Given the description of an element on the screen output the (x, y) to click on. 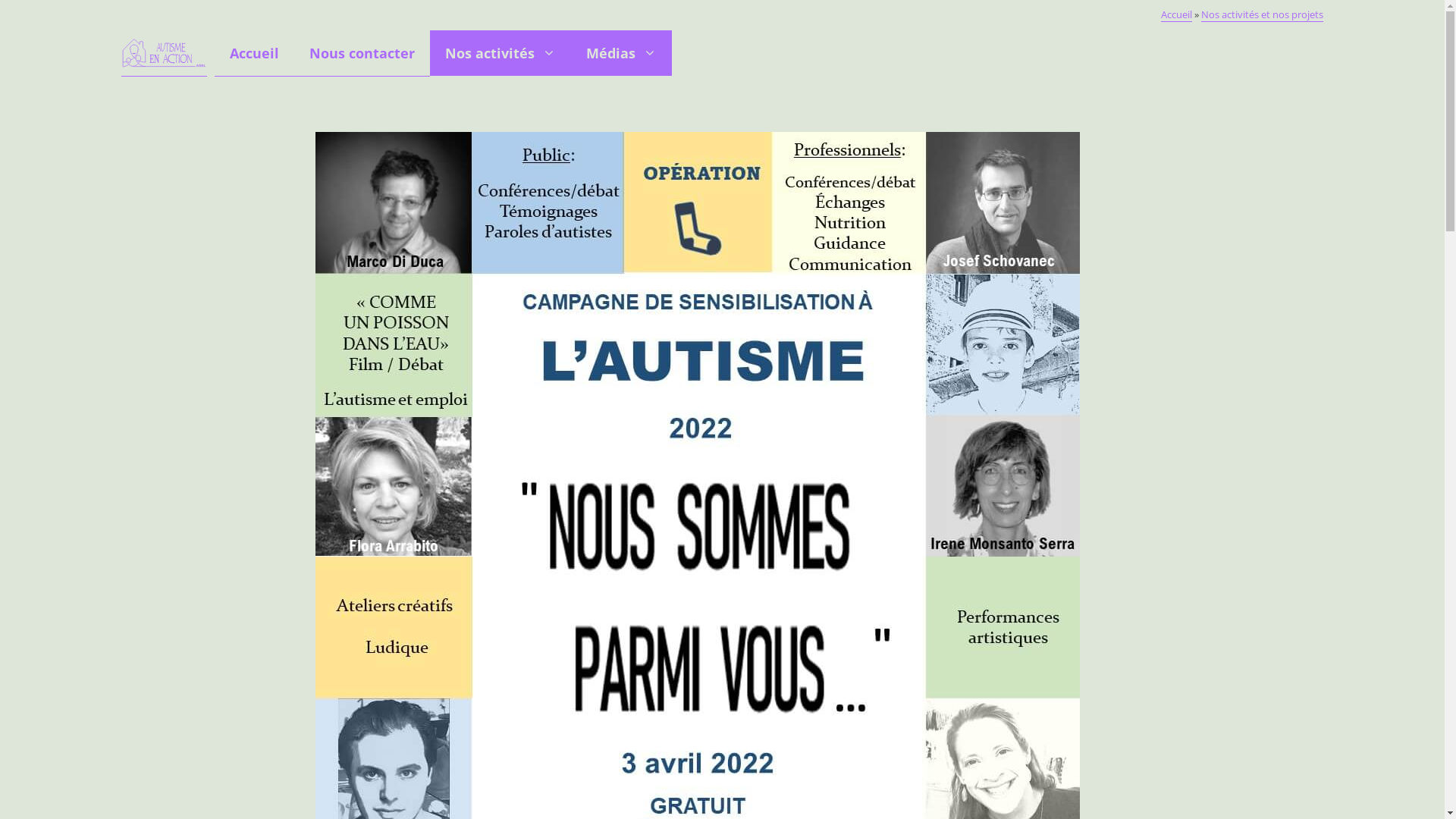
Autisme en Action Element type: hover (164, 53)
Accueil Element type: text (254, 53)
Nous contacter Element type: text (361, 53)
Accueil Element type: text (1176, 14)
Autisme en Action Element type: hover (164, 52)
